Given the description of an element on the screen output the (x, y) to click on. 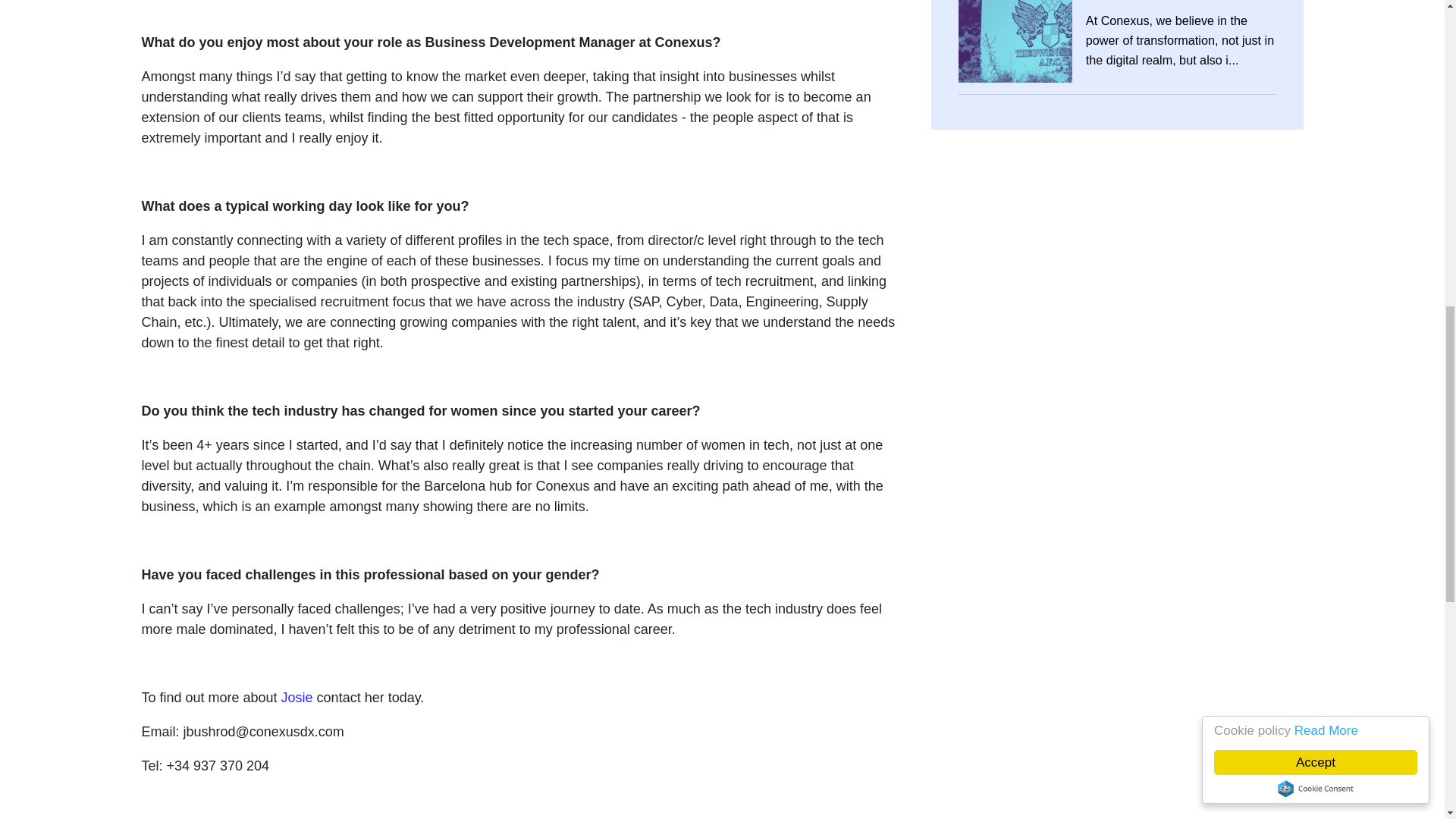
Josie (297, 697)
